Given the description of an element on the screen output the (x, y) to click on. 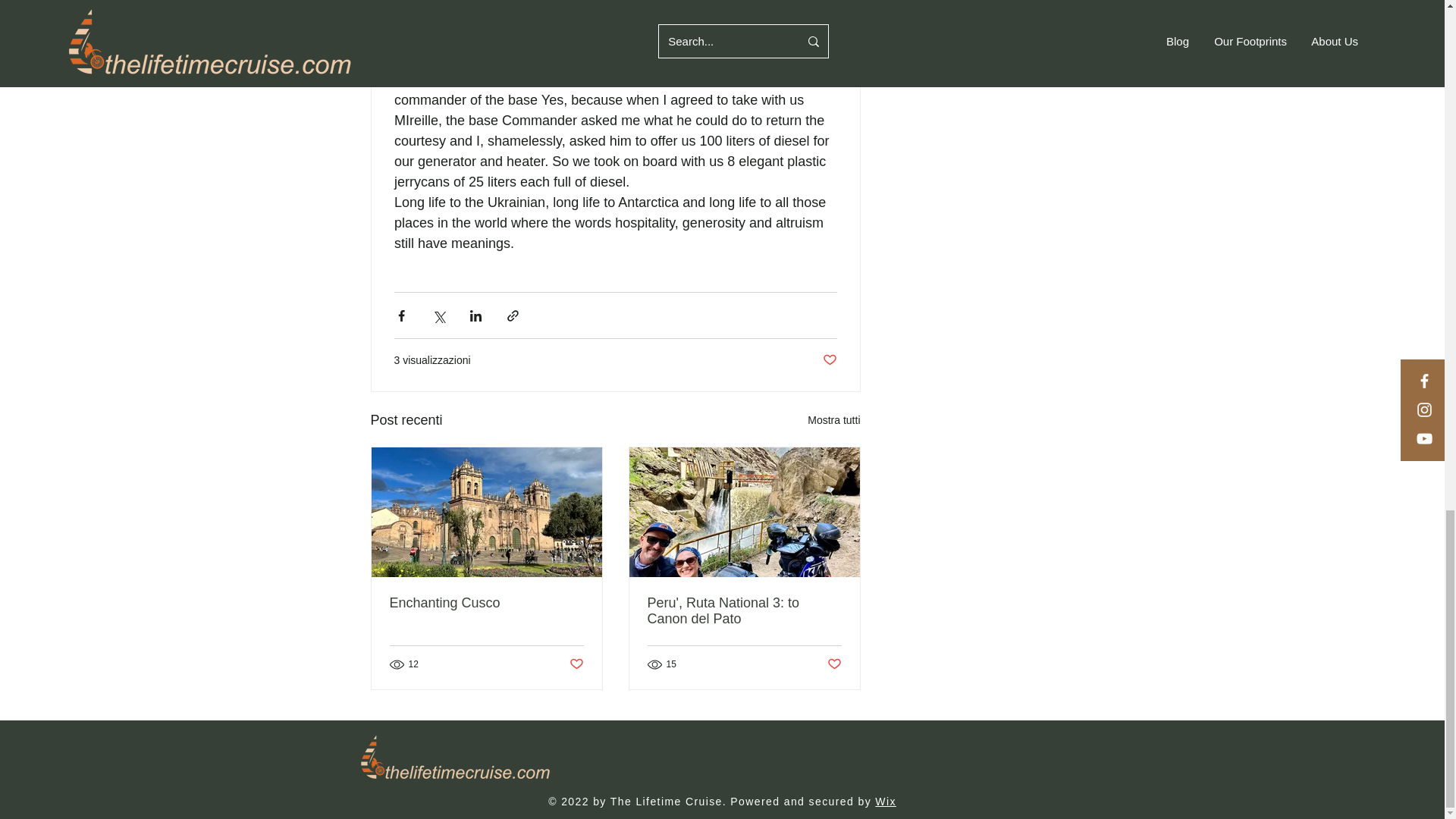
Wix (885, 801)
Enchanting Cusco (486, 602)
Post non contrassegnato con Mi piace (828, 360)
Post non contrassegnato con Mi piace (576, 664)
Mostra tutti (834, 420)
Peru', Ruta National 3: to Canon del Pato (744, 611)
Post non contrassegnato con Mi piace (834, 664)
